Given the description of an element on the screen output the (x, y) to click on. 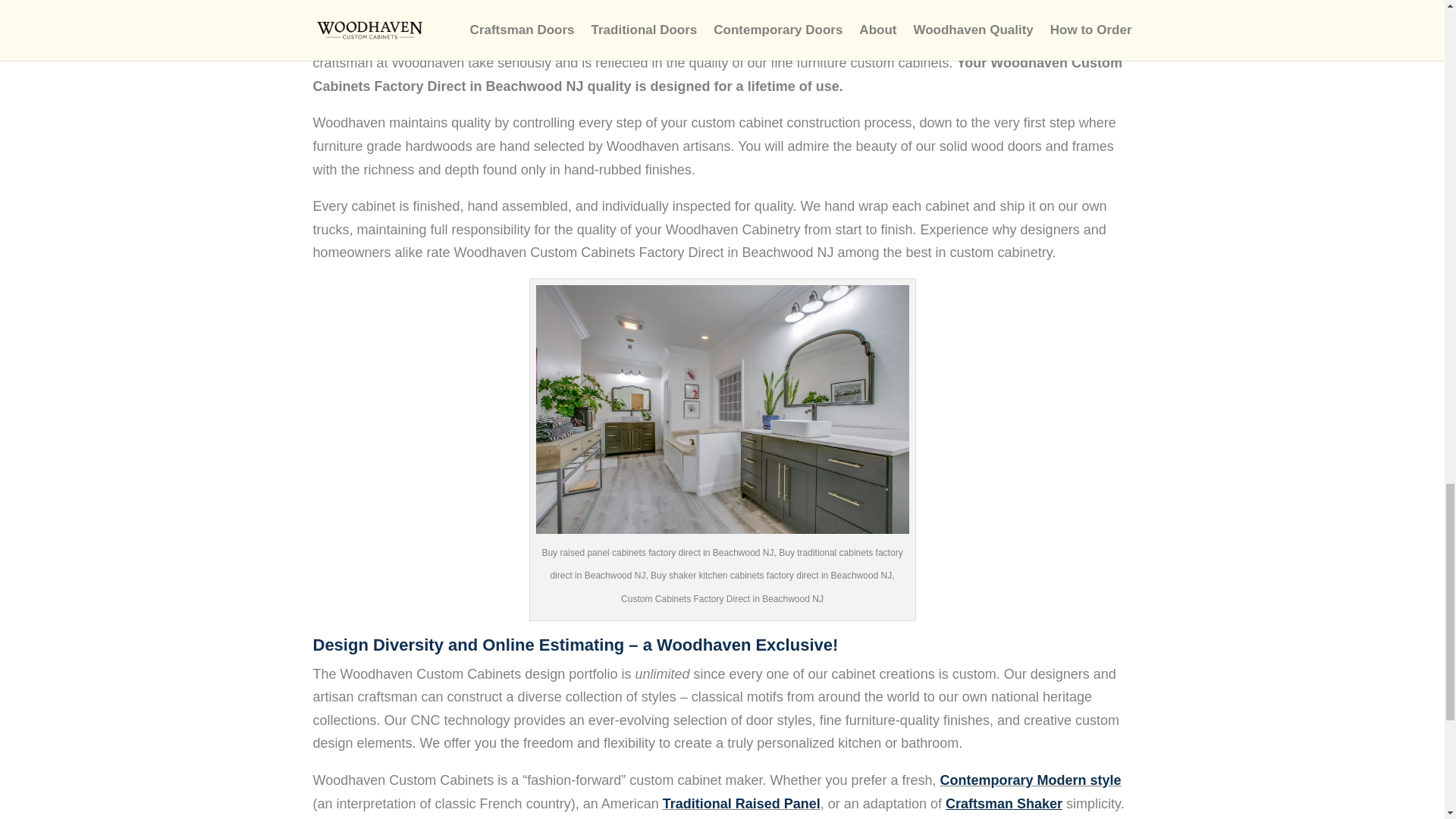
Traditional Raised Panel (741, 803)
Craftsman Shaker (1003, 803)
Contemporary Modern style (1030, 780)
